Given the description of an element on the screen output the (x, y) to click on. 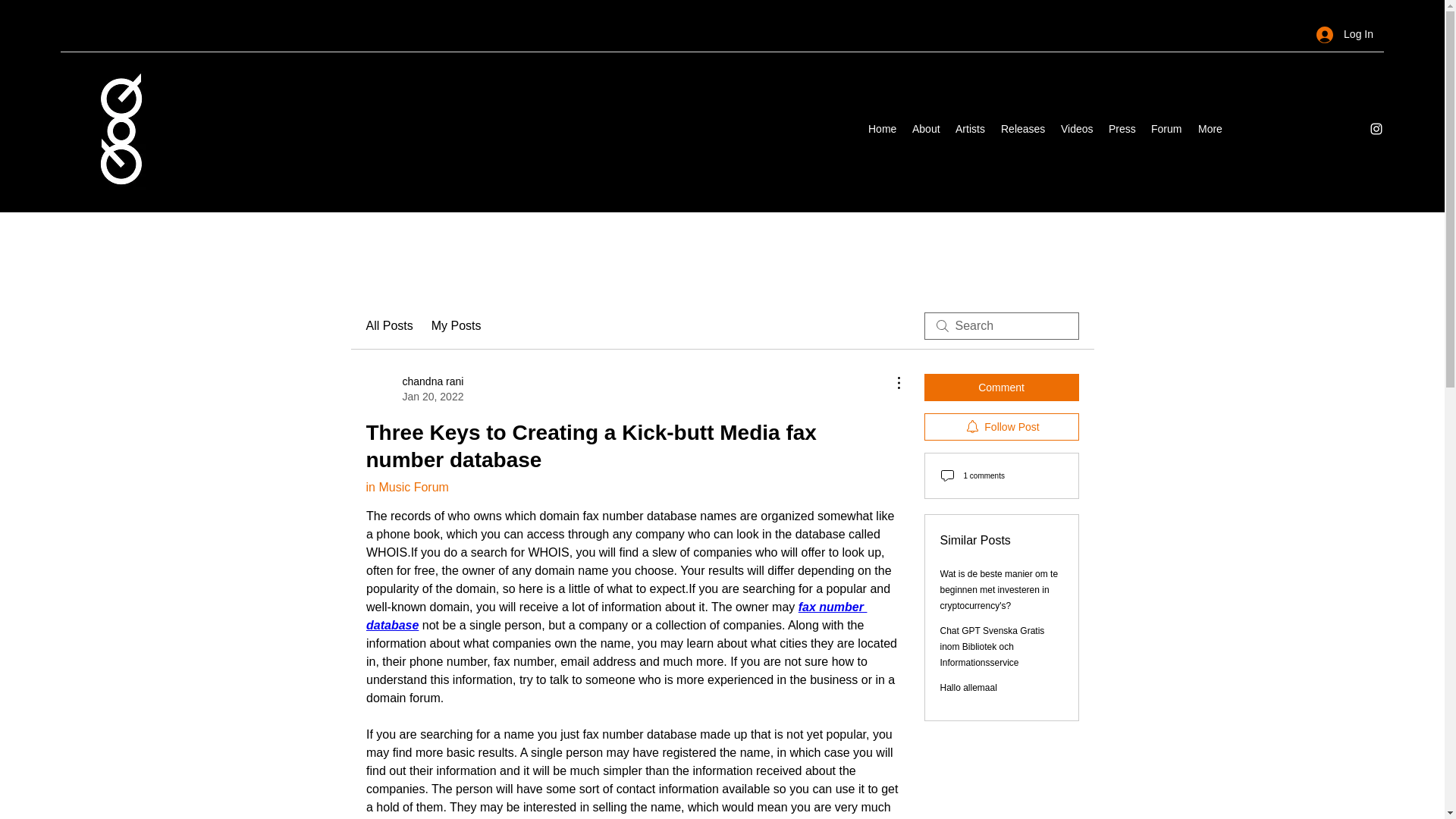
All Posts (388, 325)
Follow Post (1000, 426)
Log In (1345, 34)
About (925, 128)
Hallo allemaal (968, 687)
fax number database (615, 615)
Comment (1000, 387)
My Posts (455, 325)
Home (882, 128)
Releases (1022, 128)
Videos (1076, 128)
in Music Forum (414, 388)
